Given the description of an element on the screen output the (x, y) to click on. 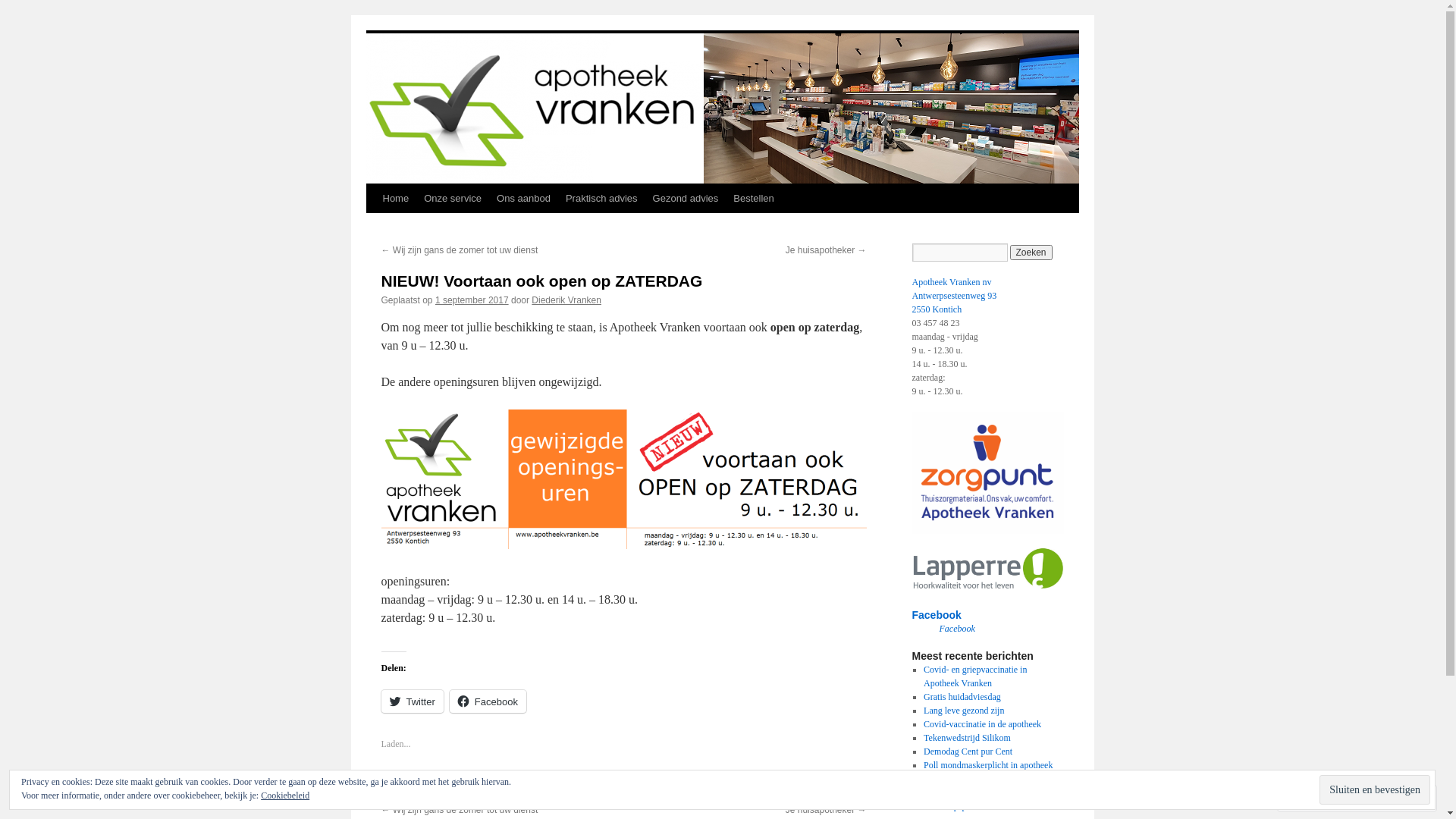
Nieuws Element type: text (531, 782)
NIEUW! Voortaan ook open op ZATERDAG Element type: text (541, 280)
Twitter Element type: text (411, 701)
Lang leve gezond zijn Element type: text (963, 710)
Poll mondmaskerplicht in apotheek Element type: text (987, 764)
Facebook Element type: text (956, 628)
Info Element type: text (503, 782)
Facebook Element type: text (487, 701)
permalink Element type: text (628, 782)
Apotheek Vranken nv
Antwerpsesteenweg 93
2550 Kontich Element type: text (953, 295)
Sluiten en bevestigen Element type: text (1374, 789)
Demodag Cent pur Cent Element type: text (967, 751)
1 september 2017 Element type: text (471, 299)
Apotheek Vranken Element type: text (464, 43)
Gratis huidadviesdag Element type: text (962, 696)
Zoeken Element type: text (1031, 252)
Bestellen Element type: text (753, 198)
Diederik Vranken Element type: text (566, 299)
Tekenwedstrijd Silikom Element type: text (966, 737)
Reactie Element type: text (1314, 797)
Gezond advies Element type: text (685, 198)
Volg Element type: text (1378, 797)
Covid-vaccinatie in de apotheek Element type: text (982, 723)
Home Element type: text (395, 198)
zorgpunt Element type: hover (987, 472)
Snelle antigeentest met certificaat Element type: text (984, 778)
Covid- en griepvaccinatie in Apotheek Vranken Element type: text (974, 676)
Facebook Element type: text (935, 614)
Cookiebeleid Element type: text (284, 795)
Onze service Element type: text (452, 198)
BIBS fopspenen Element type: text (953, 805)
Praktisch advies Element type: text (601, 198)
De covid-19 zelftest Element type: text (960, 792)
Ons aanbod Element type: text (523, 198)
